Given the description of an element on the screen output the (x, y) to click on. 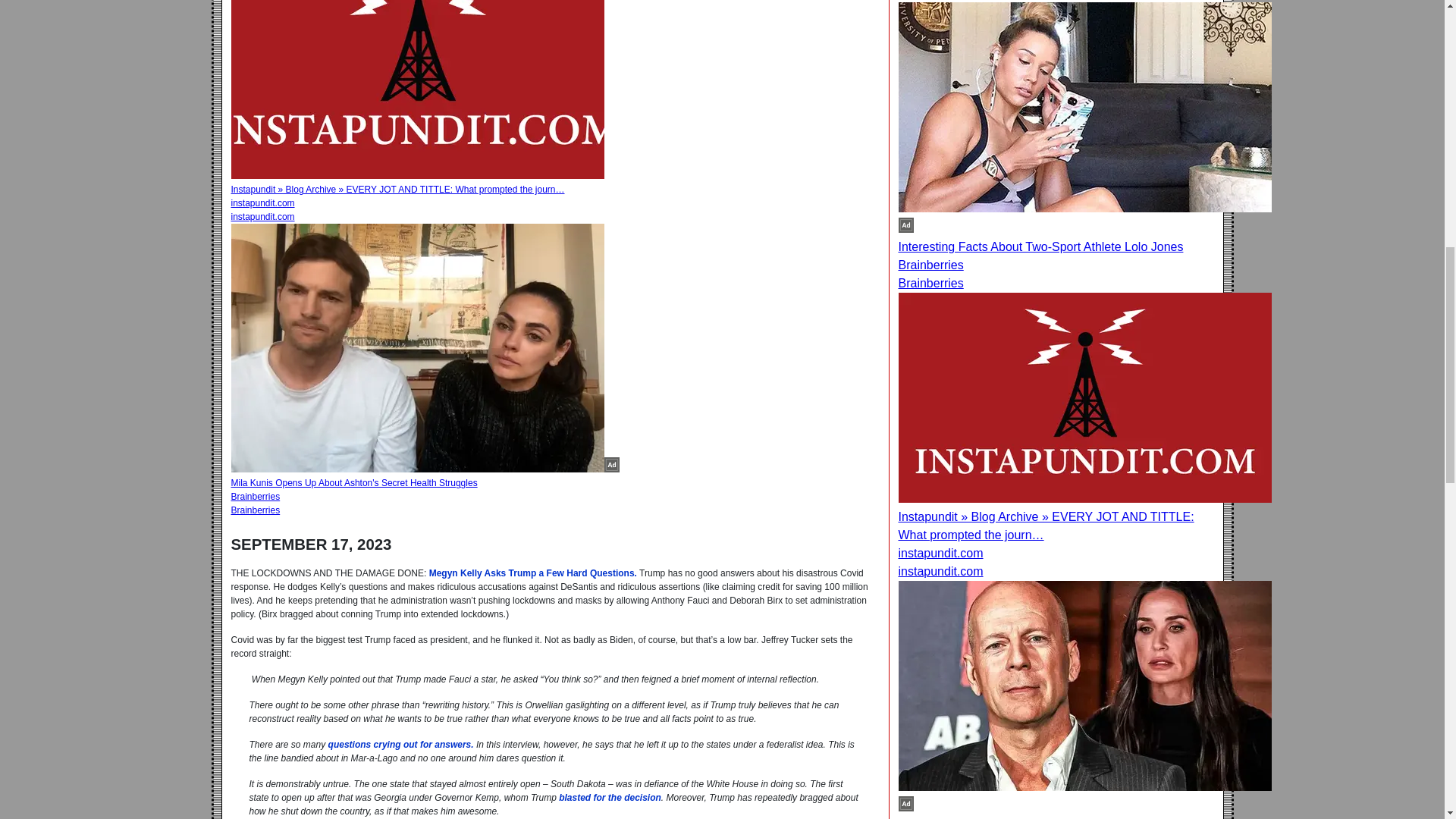
blasted for the decision (610, 797)
Megyn Kelly Asks Trump a Few Hard Questions. (533, 573)
questions crying out for answers. (401, 744)
